Given the description of an element on the screen output the (x, y) to click on. 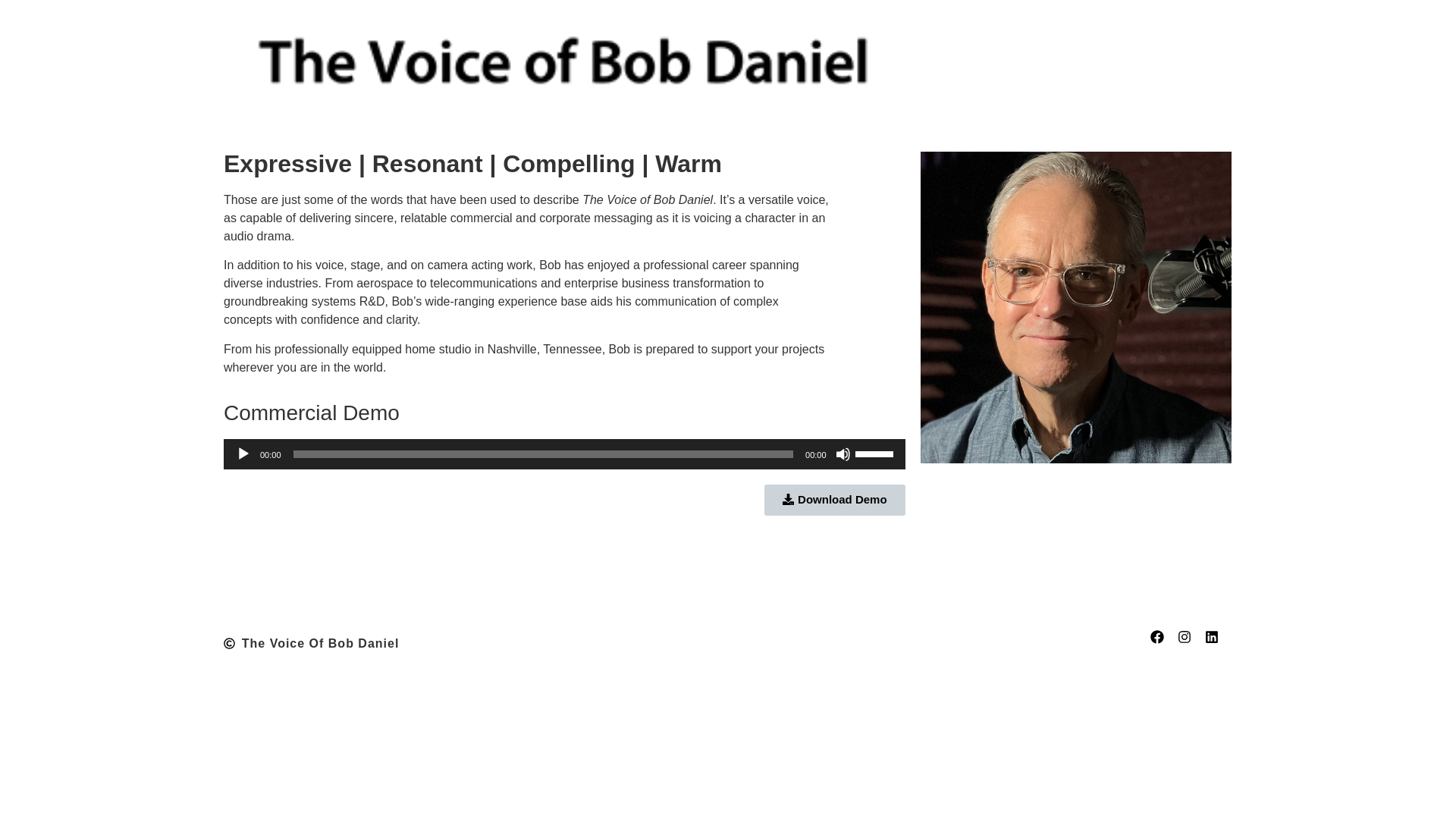
Mute (842, 453)
Play (242, 453)
Download Demo (834, 499)
